Given the description of an element on the screen output the (x, y) to click on. 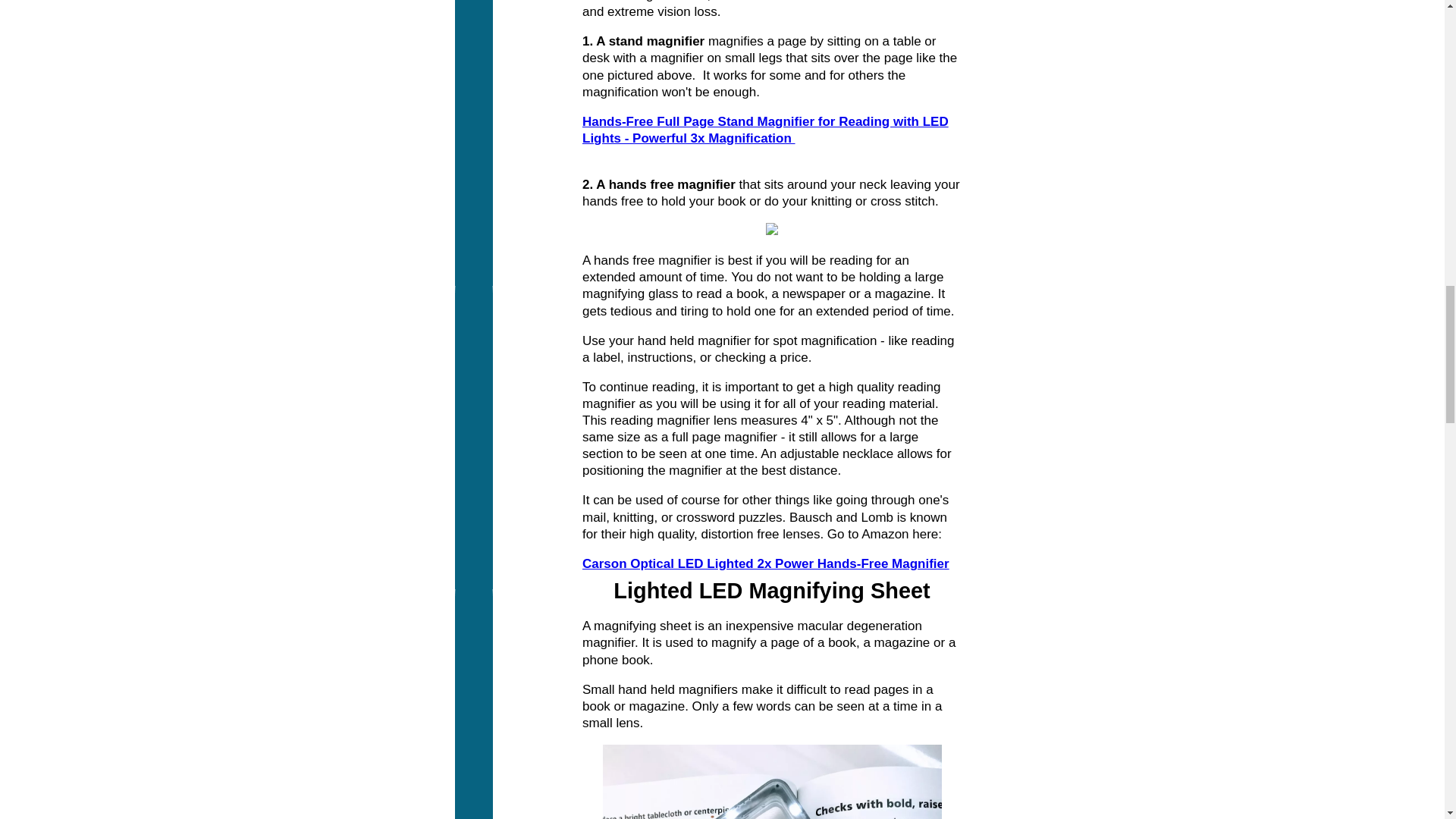
Carson Optical LED Lighted 2x Power Hands-Free Magnifier (765, 563)
light up book magnifier (771, 781)
